Given the description of an element on the screen output the (x, y) to click on. 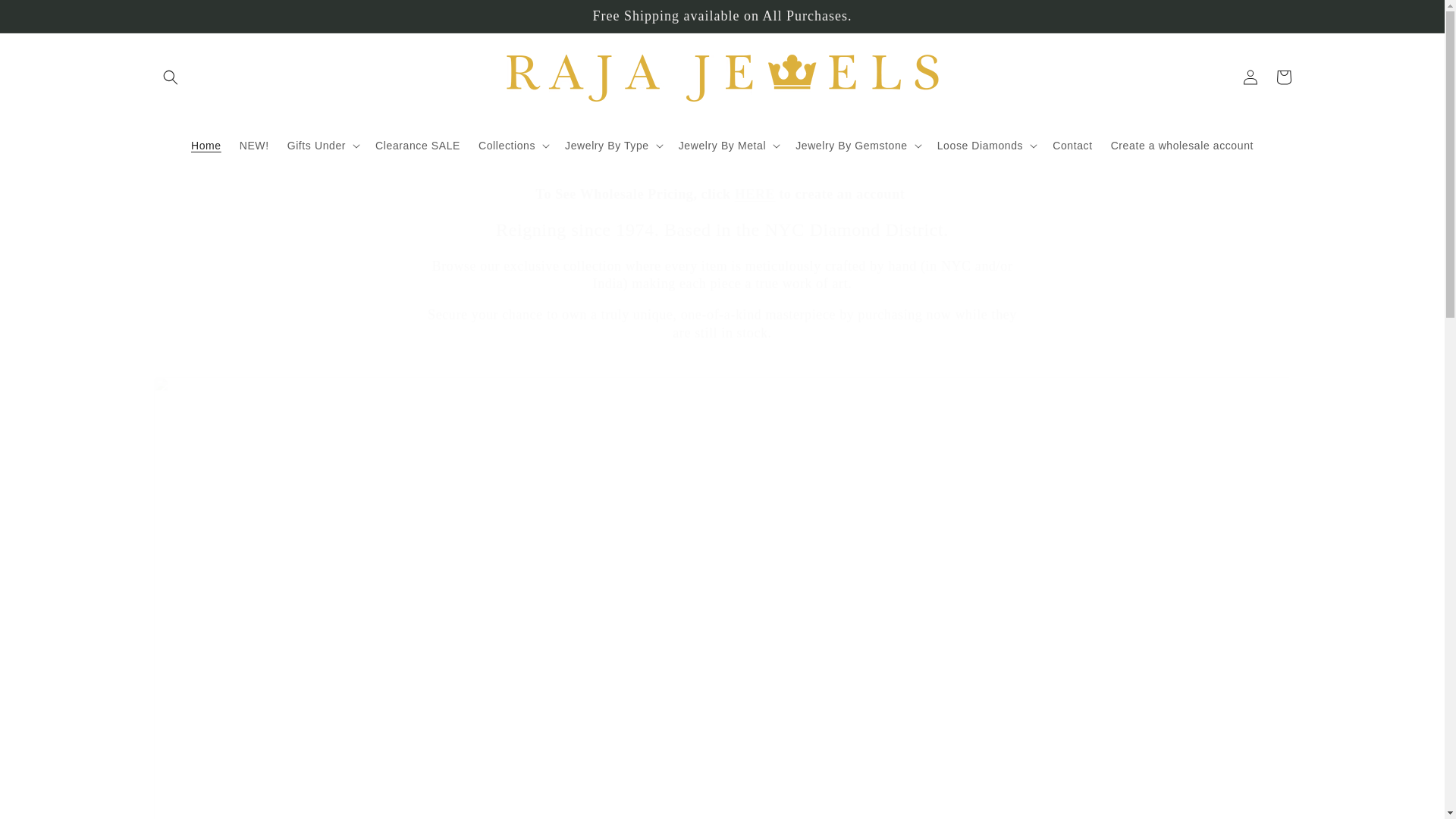
Reigning since 1974. Based in the NYC Diamond District. (721, 229)
To See Wholesale Pricing, click HERE to create an account  (721, 194)
Skip to content (45, 17)
Wholesale Account (754, 193)
